Given the description of an element on the screen output the (x, y) to click on. 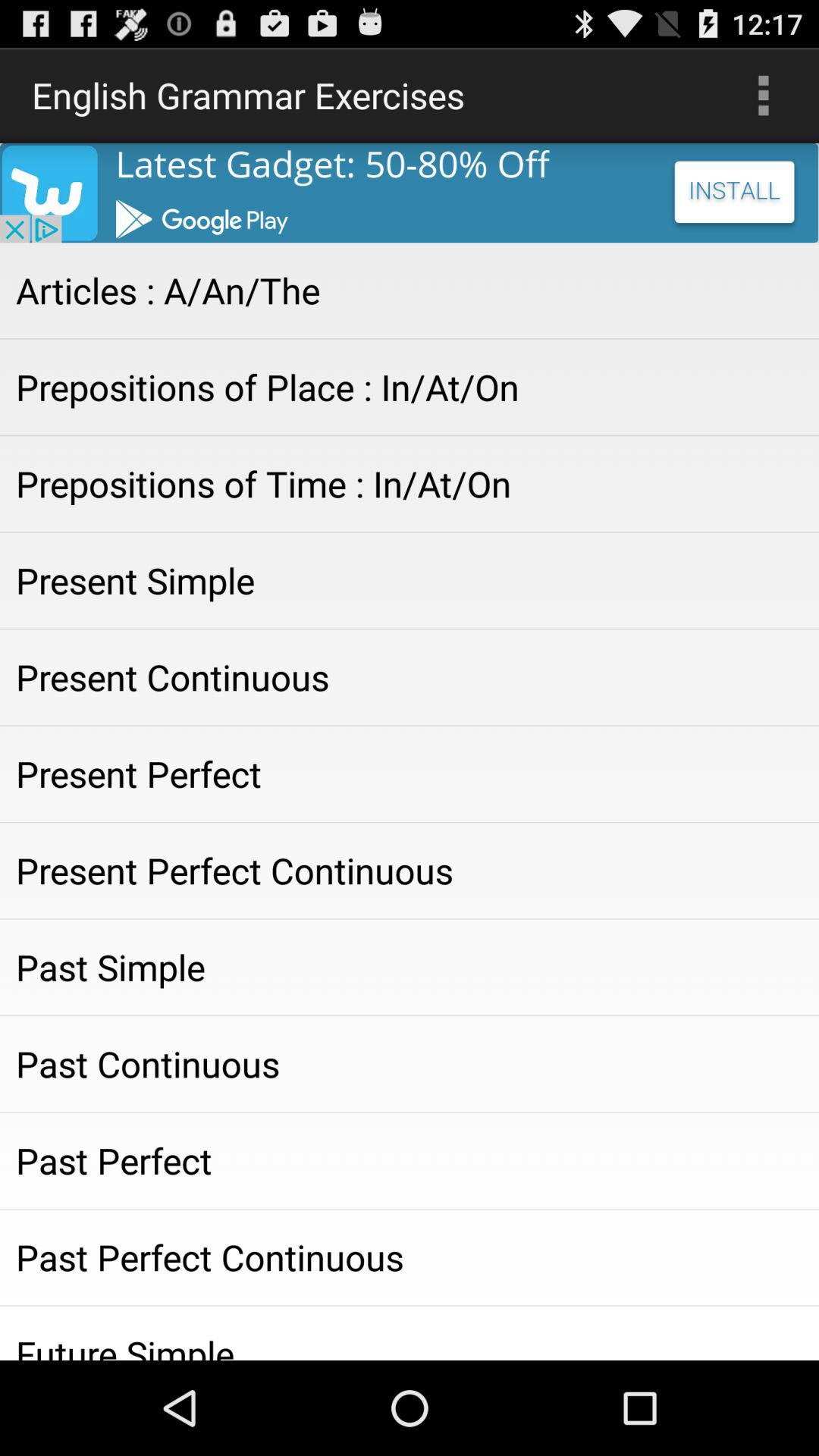
install app (409, 192)
